Given the description of an element on the screen output the (x, y) to click on. 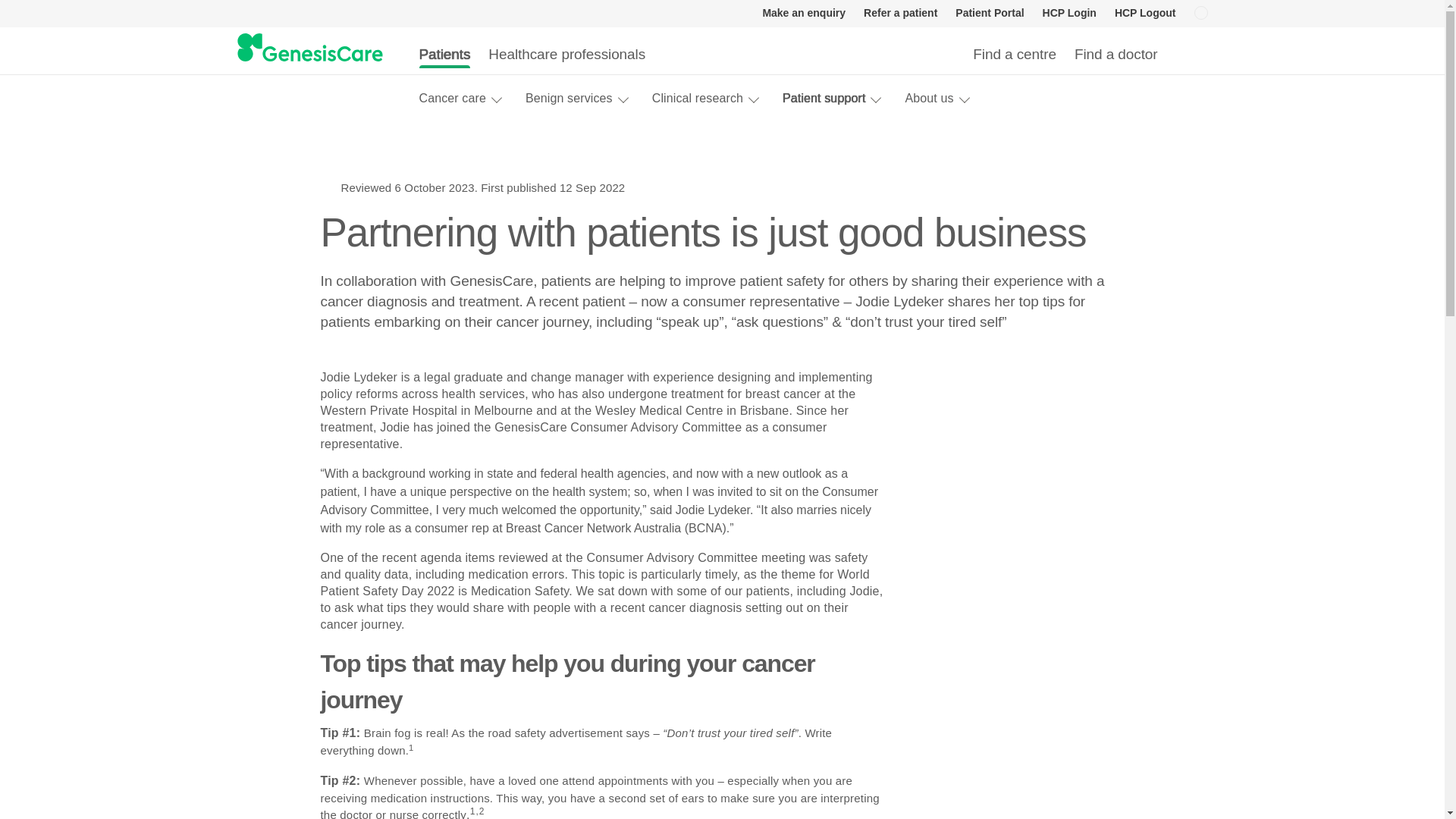
Benign services (569, 97)
AU (1200, 13)
Patient Portal (989, 13)
Patient Portal (989, 13)
Refer a patient (900, 13)
Patients (444, 53)
HCP Logout (1145, 13)
Patient support (824, 97)
GenesisCare - logo (308, 48)
Patients (444, 53)
